Given the description of an element on the screen output the (x, y) to click on. 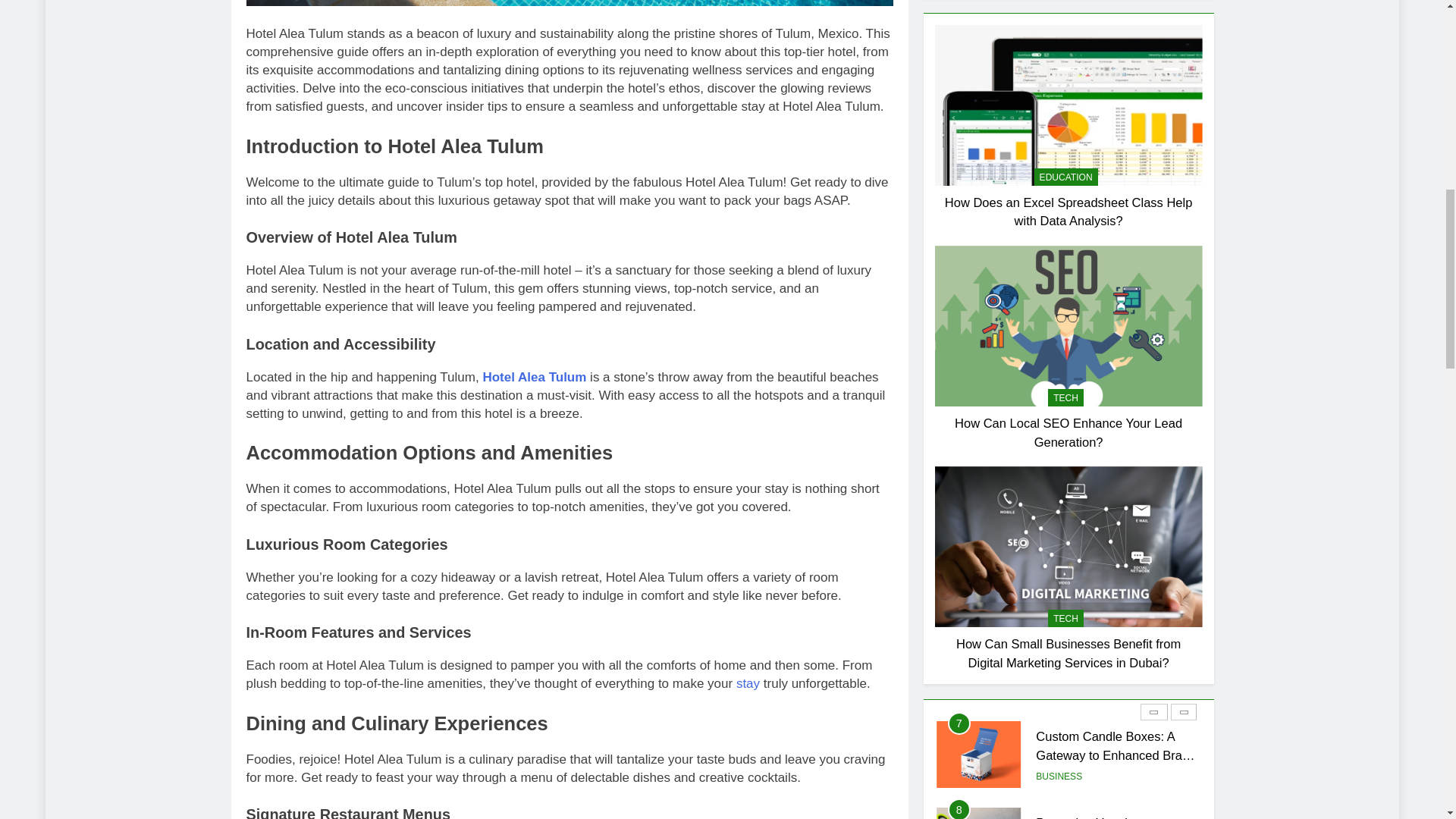
stay (748, 683)
Hotel Alea Tulum (533, 377)
